Given the description of an element on the screen output the (x, y) to click on. 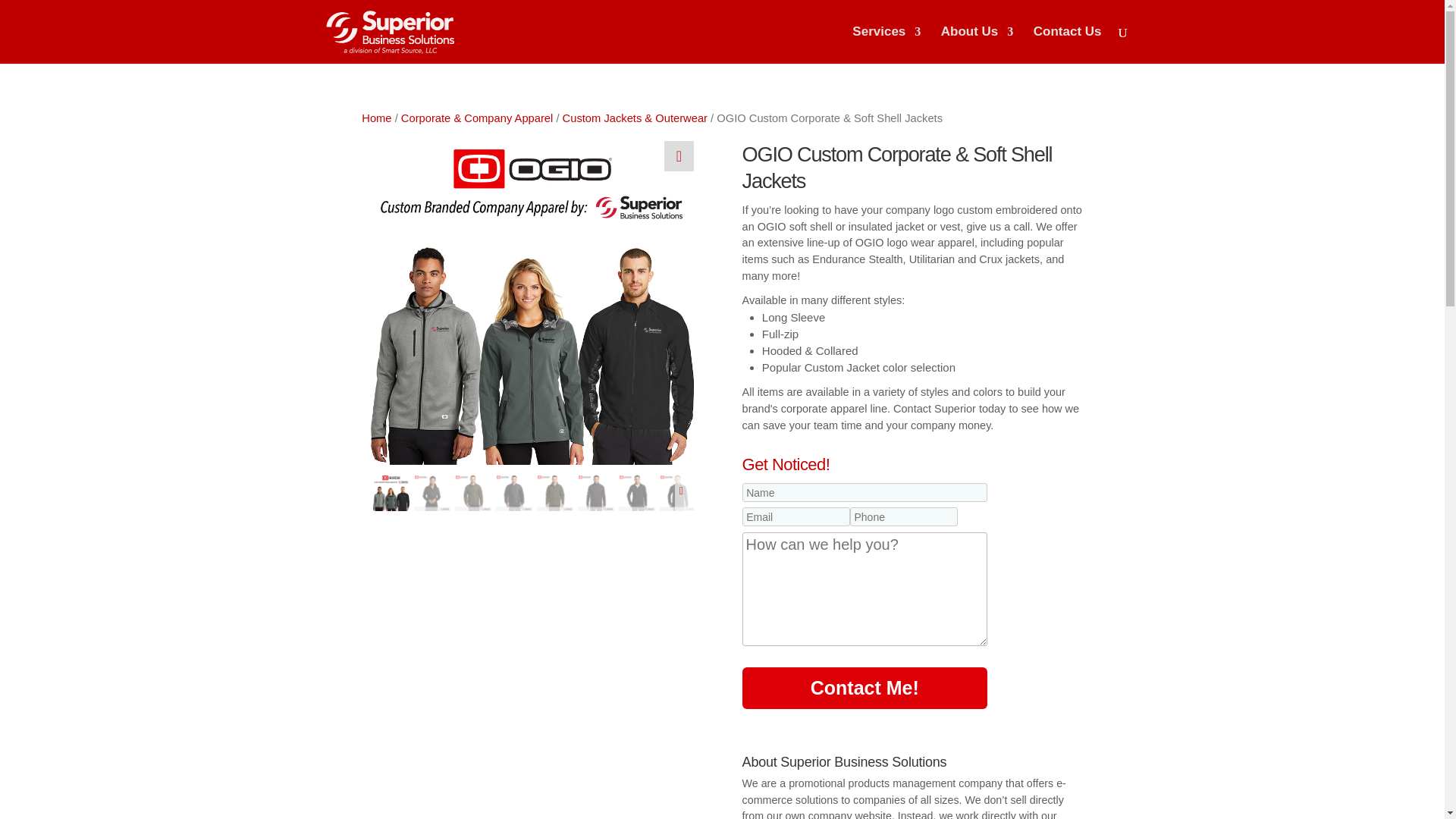
Services (885, 44)
Contact Me! (864, 688)
Contact Us (1067, 44)
Home (376, 118)
About Us (976, 44)
